Given the description of an element on the screen output the (x, y) to click on. 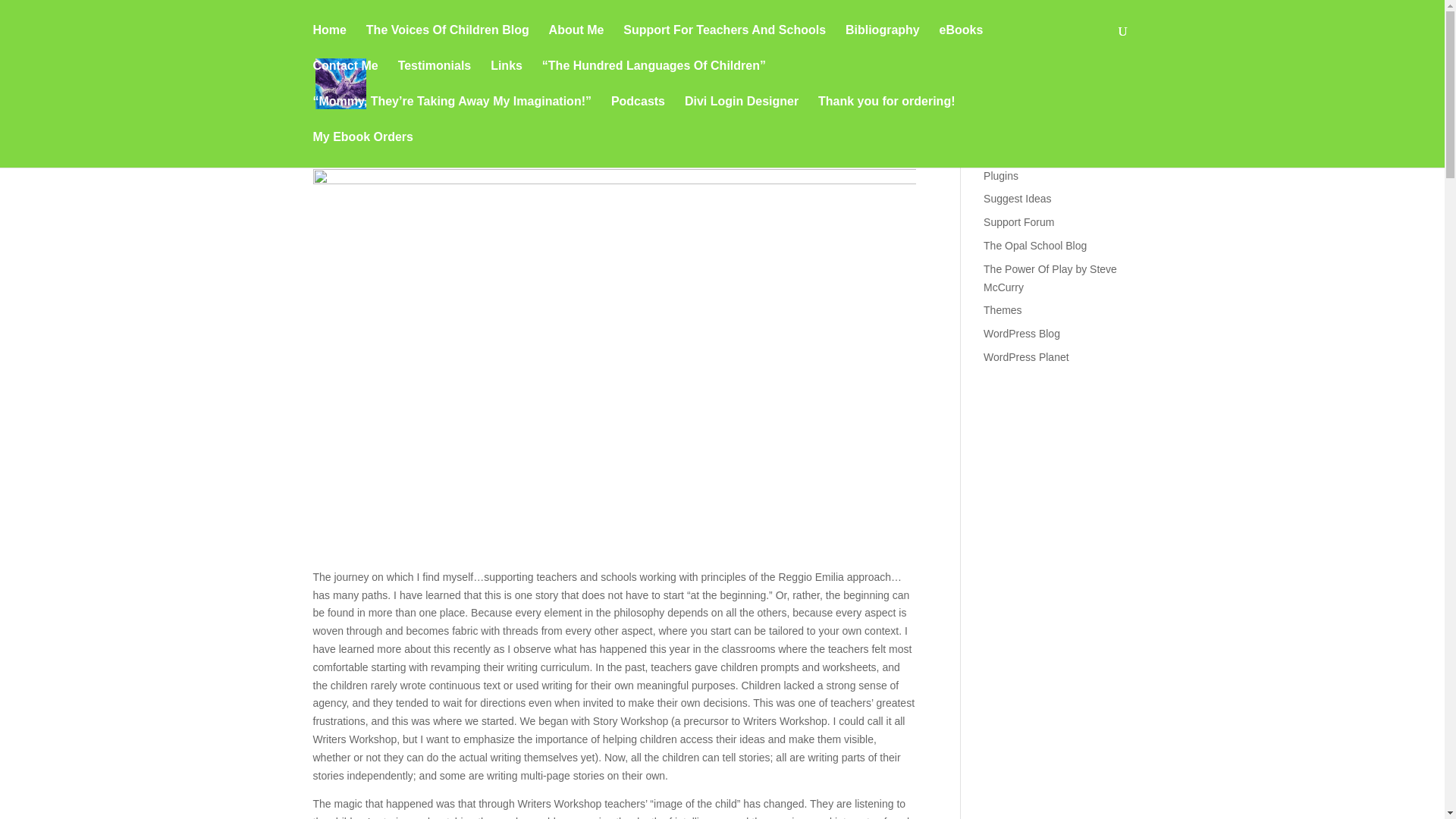
About Me (576, 42)
eBooks (961, 42)
Support For Teachers And Schools (724, 42)
Testimonials (434, 78)
A beautiful photographic blog about play all over the world (1050, 277)
Links (506, 78)
Divi Login Designer (740, 113)
Posts by Pam Oken-Wright (368, 143)
My Ebook Orders (362, 149)
0 comments (609, 143)
Thank you for ordering! (886, 113)
Teacher Research (529, 143)
Pam Oken-Wright (368, 143)
Bibliography (882, 42)
